Given the description of an element on the screen output the (x, y) to click on. 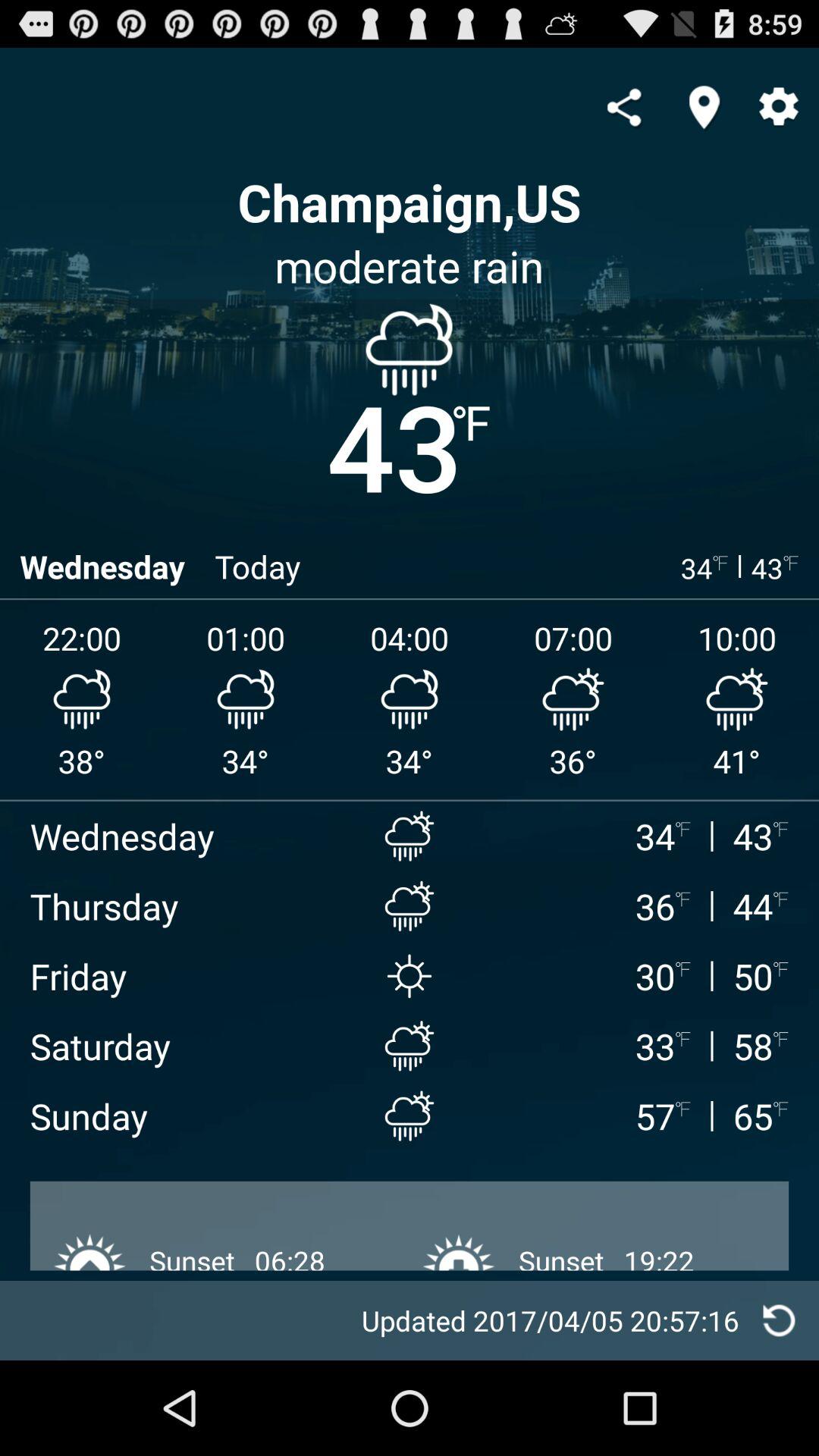
tap to change location (704, 107)
